Given the description of an element on the screen output the (x, y) to click on. 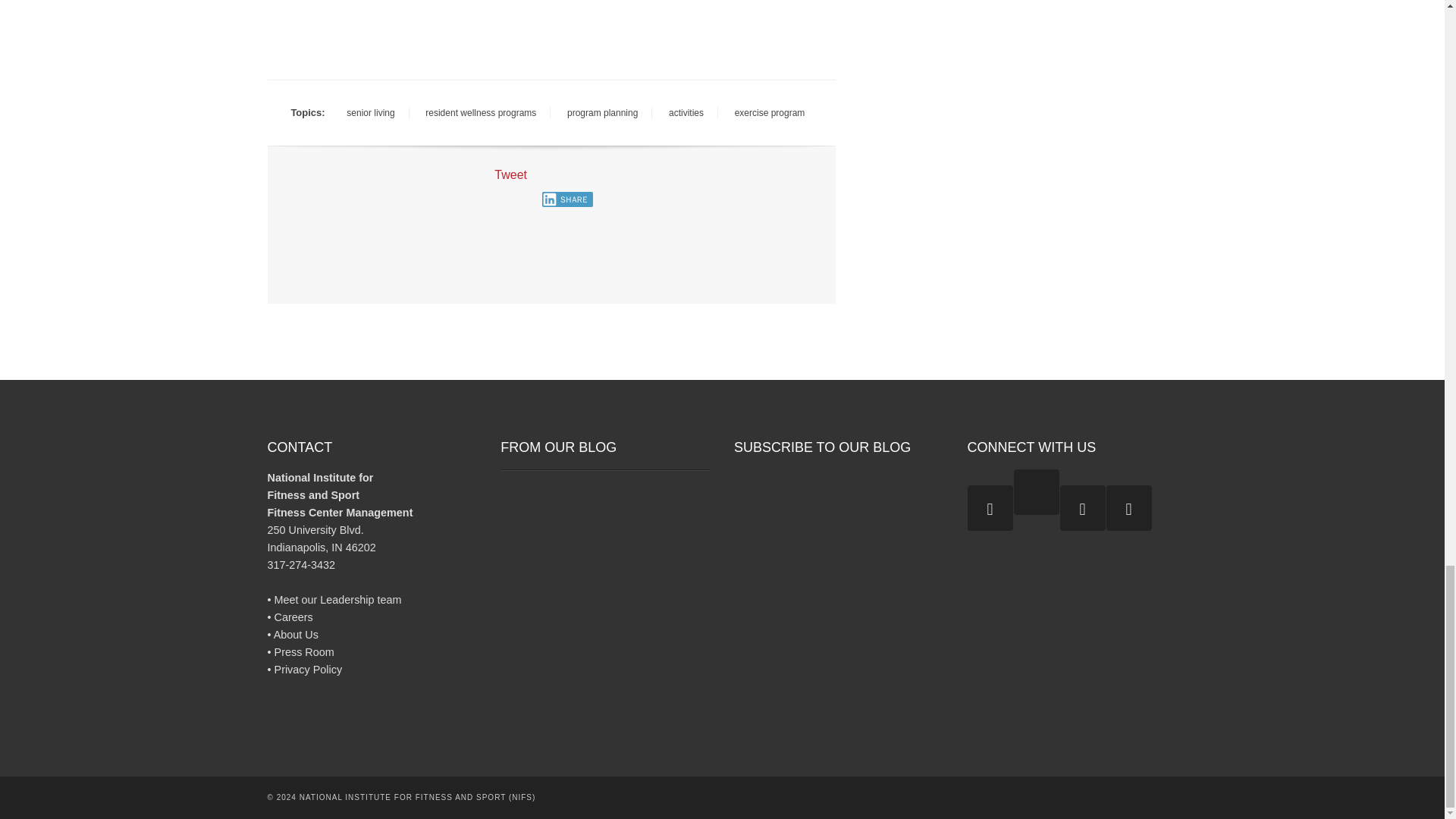
Follow us on Twitter (990, 507)
Follow us on Facebook (1082, 507)
resident wellness programs (480, 112)
SHARE (566, 199)
senior living (370, 112)
Tweet (511, 174)
exercise program (769, 112)
program planning (602, 112)
Follow us on Instagram (1036, 492)
activities (686, 112)
Follow us on Linkedin (1128, 507)
